Given the description of an element on the screen output the (x, y) to click on. 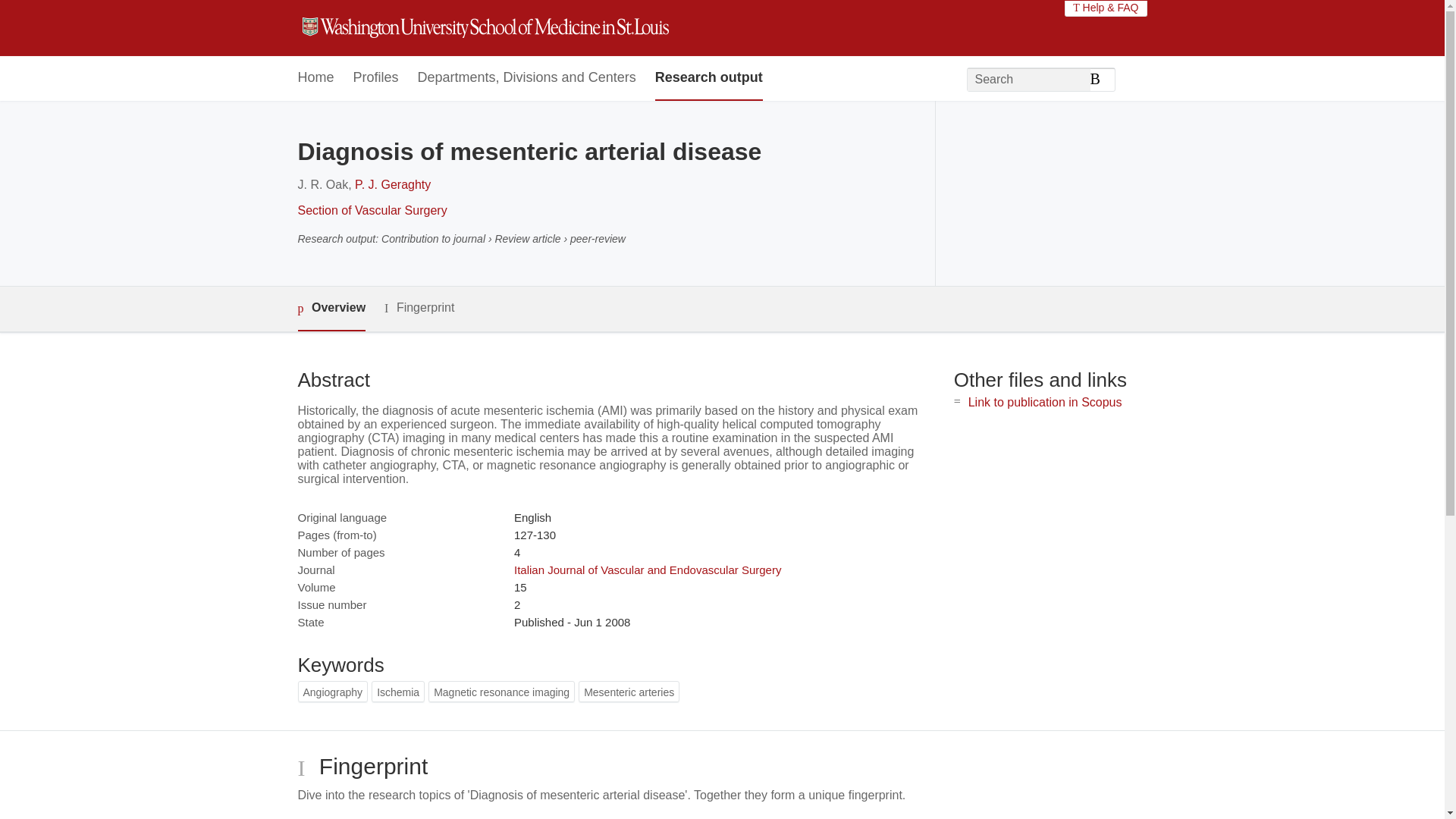
Research output (708, 78)
Section of Vascular Surgery (371, 210)
P. J. Geraghty (392, 184)
Link to publication in Scopus (1045, 401)
Italian Journal of Vascular and Endovascular Surgery (646, 569)
Profiles (375, 78)
Departments, Divisions and Centers (526, 78)
Overview (331, 308)
